Given the description of an element on the screen output the (x, y) to click on. 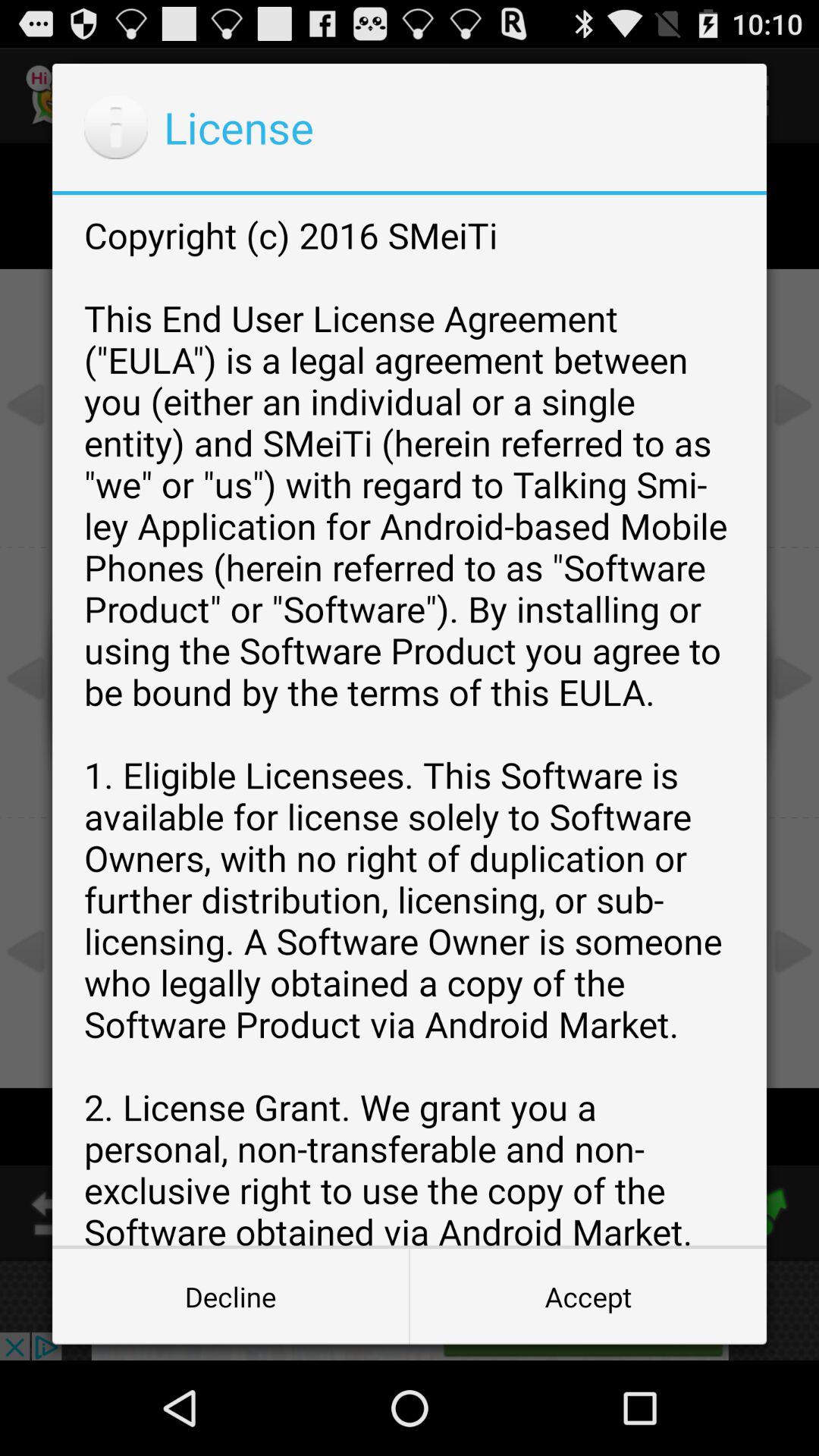
press the accept (588, 1296)
